Given the description of an element on the screen output the (x, y) to click on. 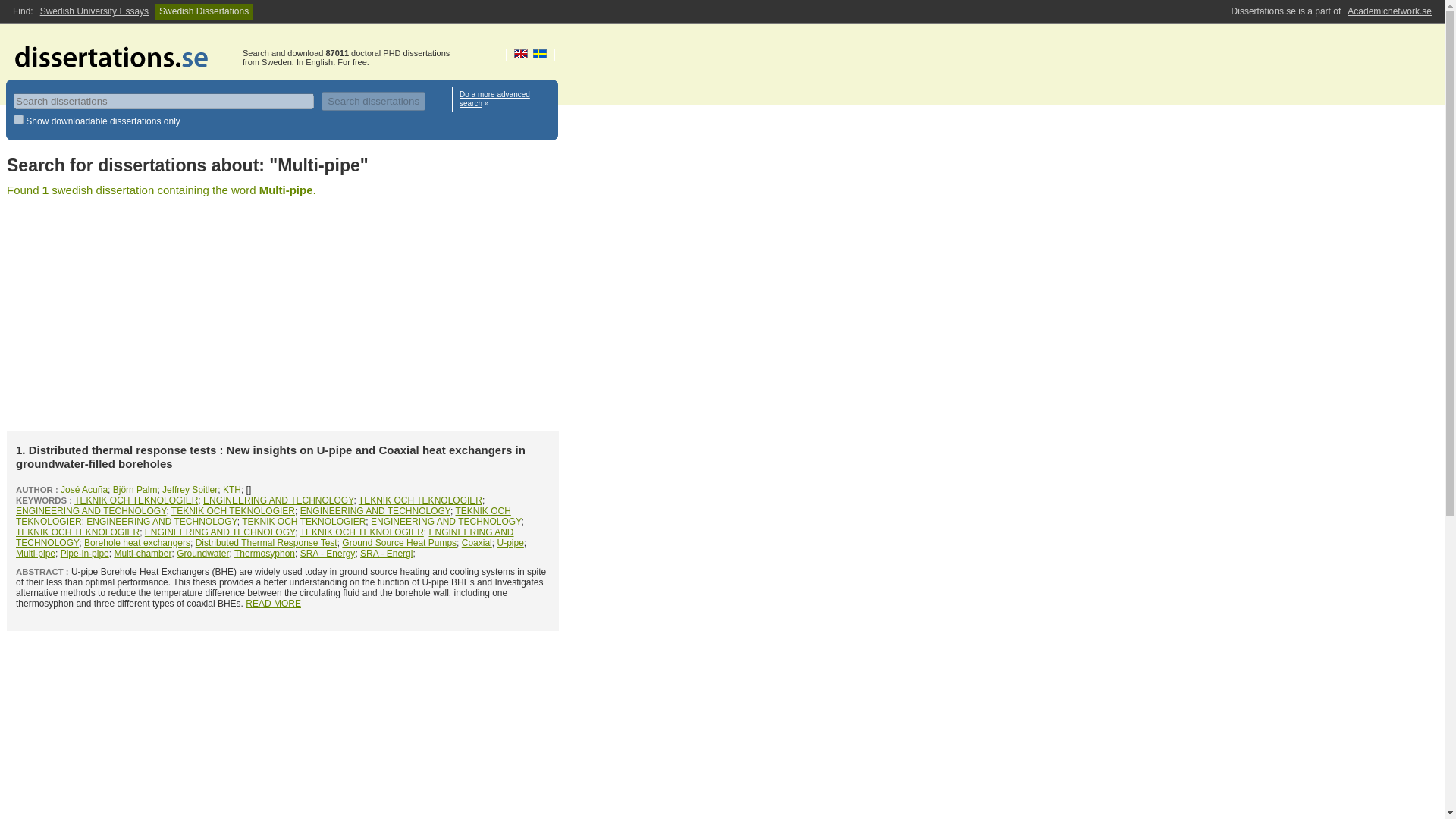
language: Swedish (539, 53)
Coaxial (476, 542)
Search dissertations (373, 100)
y (18, 119)
Jeffrey Spitler (188, 489)
SRA - Energy (327, 552)
Academicnetwork.se (1388, 11)
TEKNIK OCH TEKNOLOGIER (303, 521)
KTH (231, 489)
TEKNIK OCH TEKNOLOGIER (77, 532)
Multi-pipe (35, 552)
Swedish Dissertations (203, 11)
Borehole heat exchangers (137, 542)
ENGINEERING AND TECHNOLOGY (219, 532)
Advertisement (283, 730)
